Given the description of an element on the screen output the (x, y) to click on. 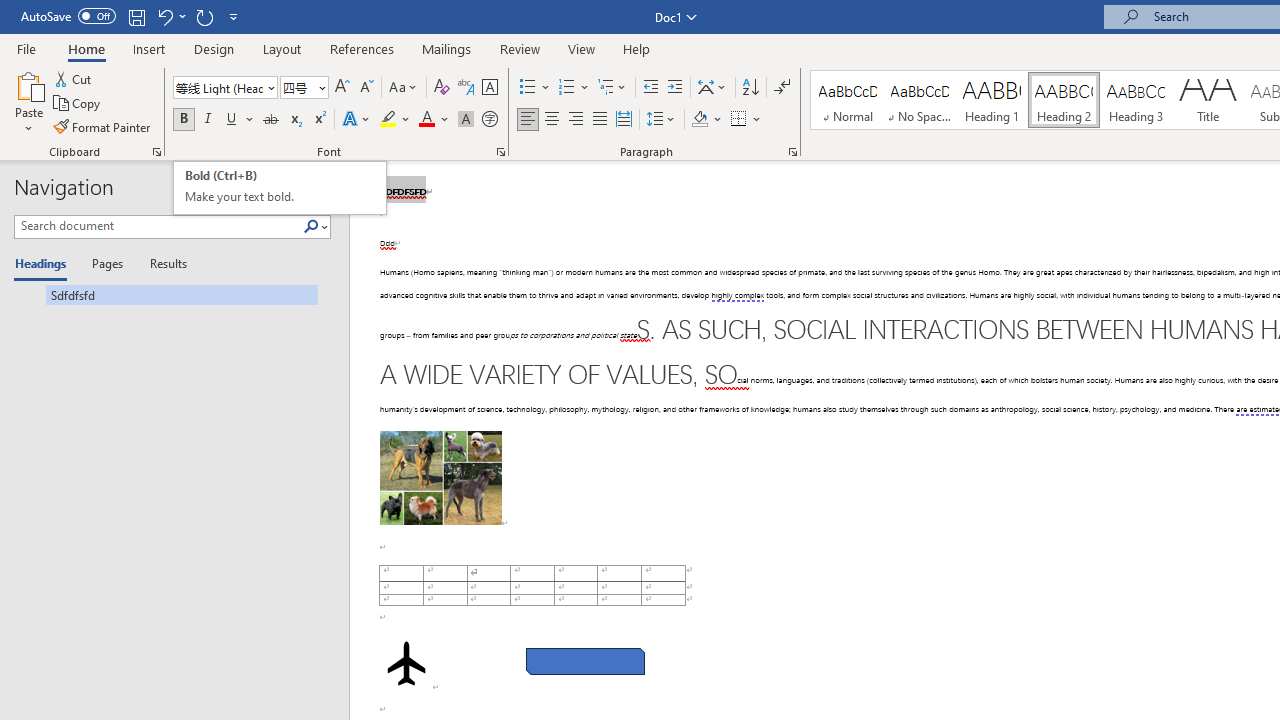
Rectangle: Diagonal Corners Snipped 2 (585, 661)
Phonetic Guide... (465, 87)
Text Highlight Color Yellow (388, 119)
Paste (28, 84)
